Given the description of an element on the screen output the (x, y) to click on. 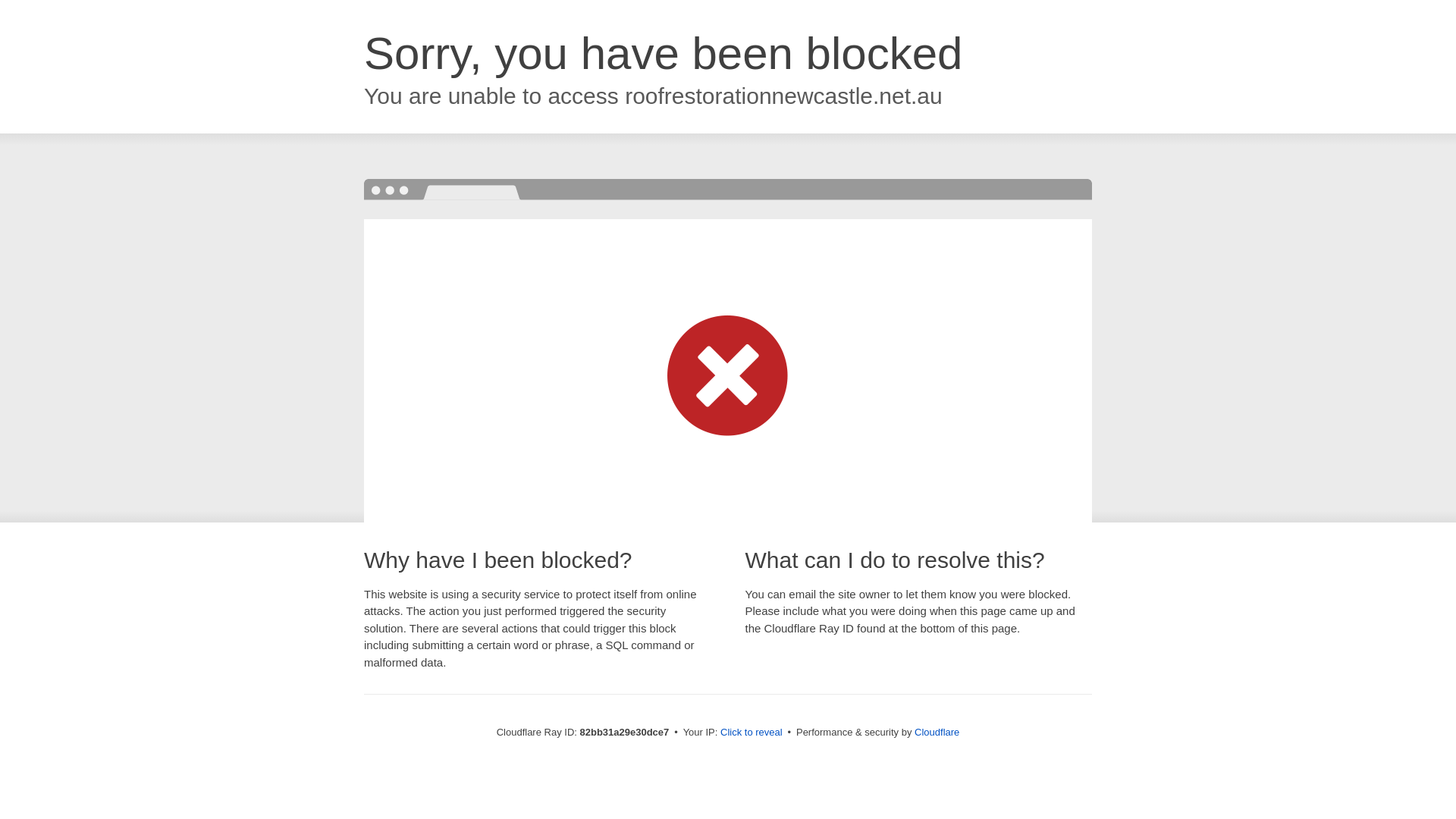
Cloudflare Element type: text (936, 731)
Click to reveal Element type: text (751, 732)
